Given the description of an element on the screen output the (x, y) to click on. 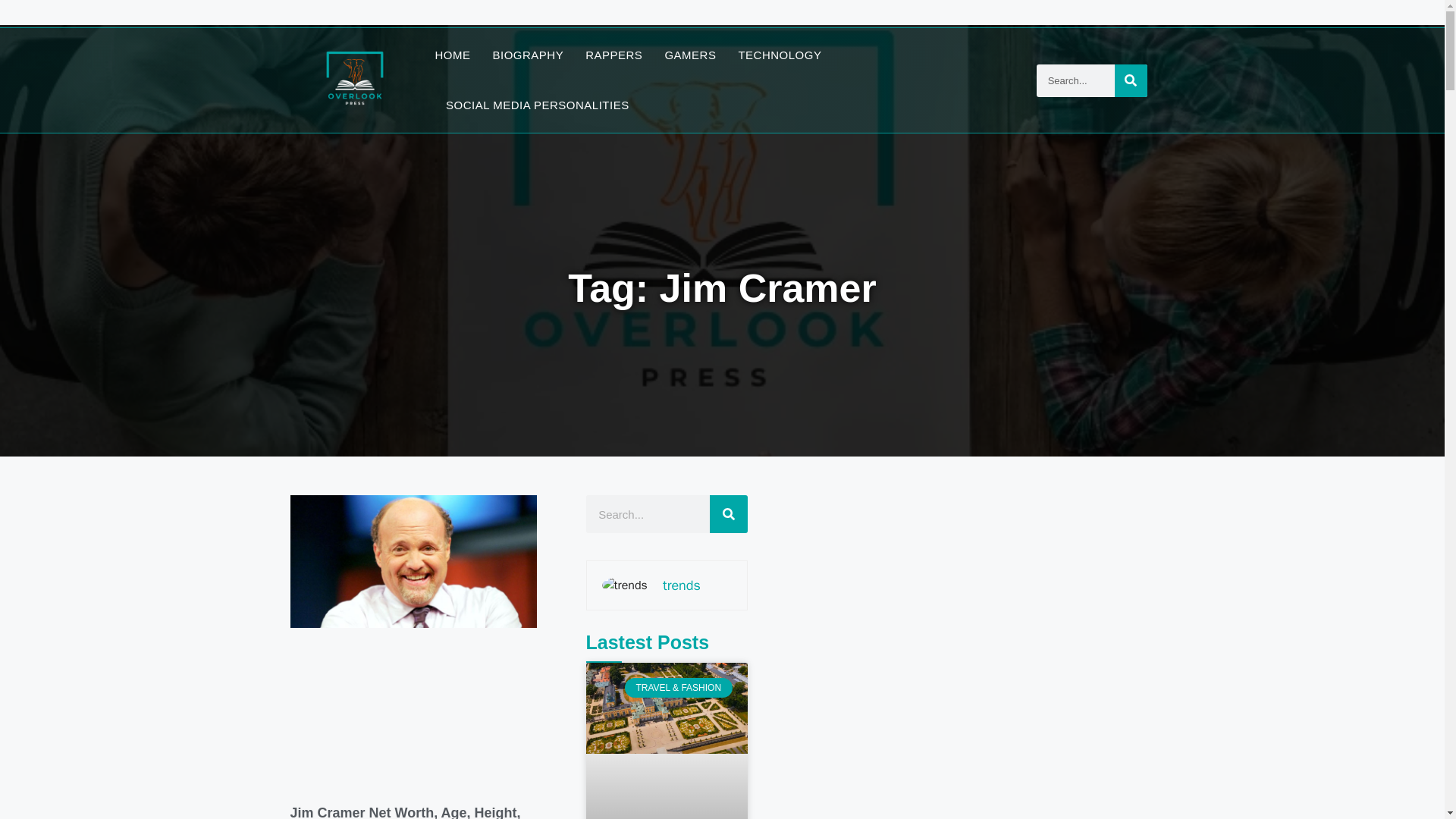
BIOGRAPHY (528, 55)
GAMERS (689, 55)
TECHNOLOGY (779, 55)
SOCIAL MEDIA PERSONALITIES (536, 105)
RAPPERS (613, 55)
trends (681, 585)
